Given the description of an element on the screen output the (x, y) to click on. 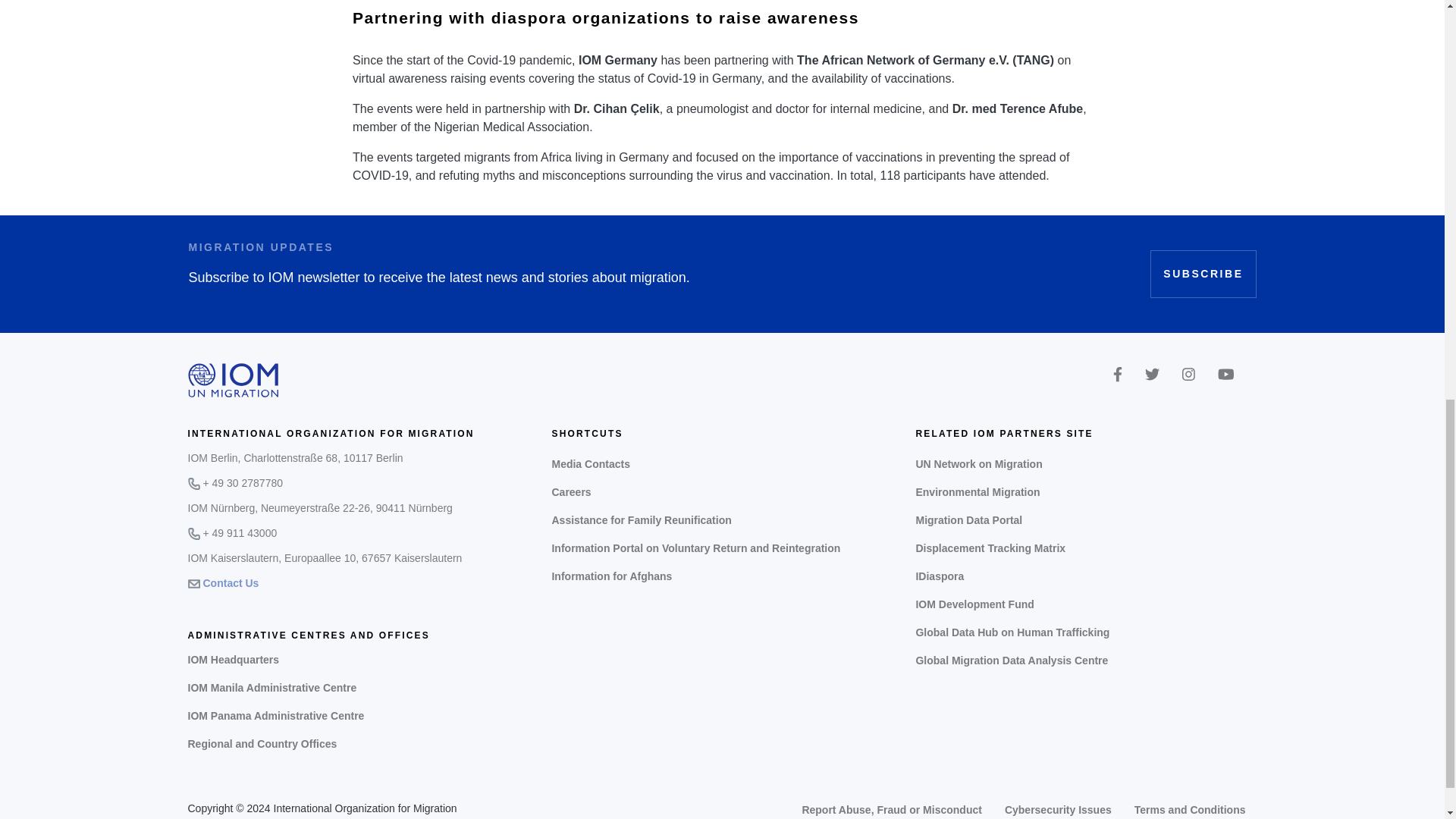
Home (233, 379)
Contact Us (231, 583)
